Given the description of an element on the screen output the (x, y) to click on. 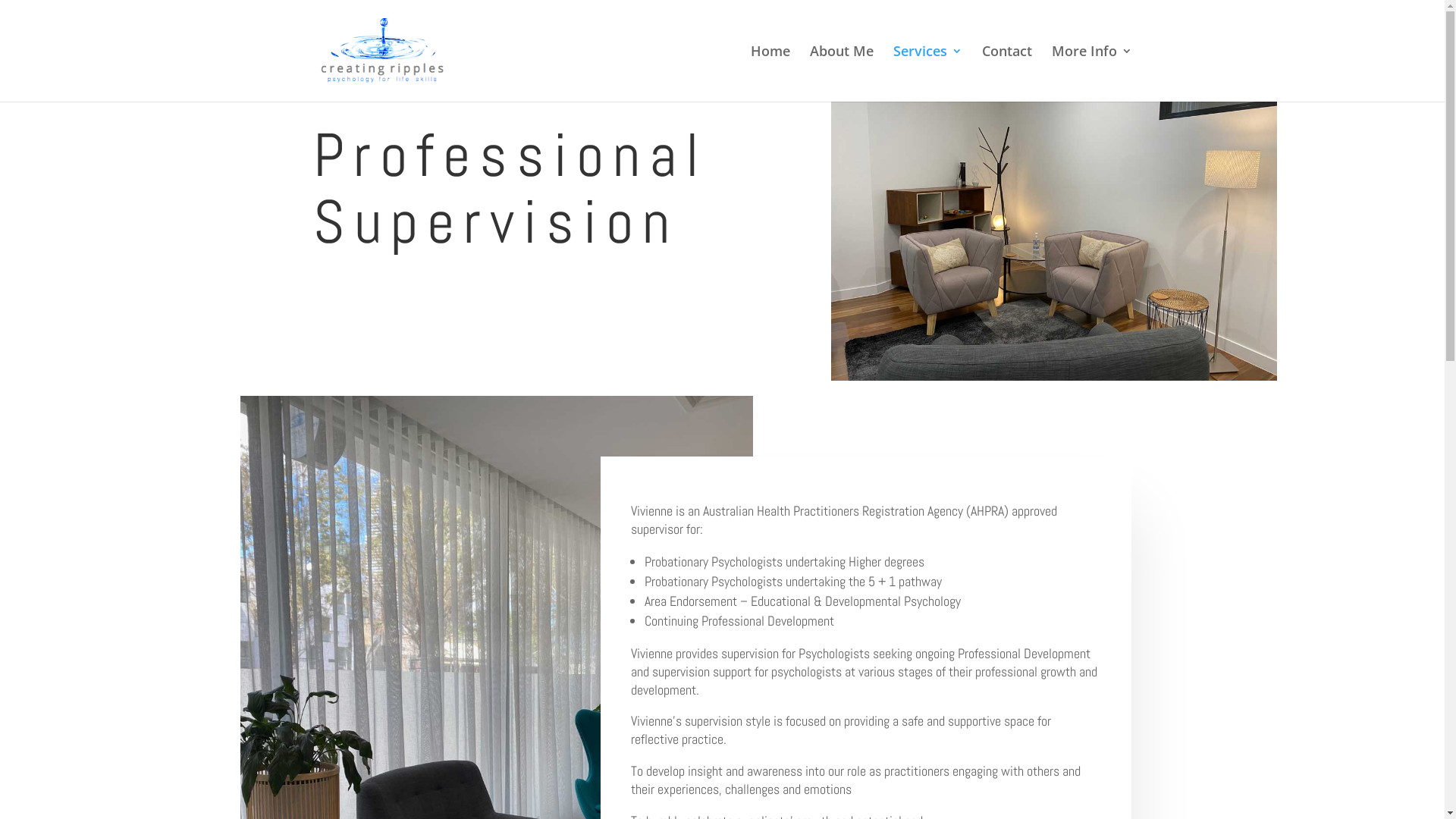
Counselling Element type: hover (1054, 213)
Home Element type: text (770, 73)
Services Element type: text (927, 73)
Contact Element type: text (1006, 73)
About Me Element type: text (841, 73)
More Info Element type: text (1091, 73)
